Given the description of an element on the screen output the (x, y) to click on. 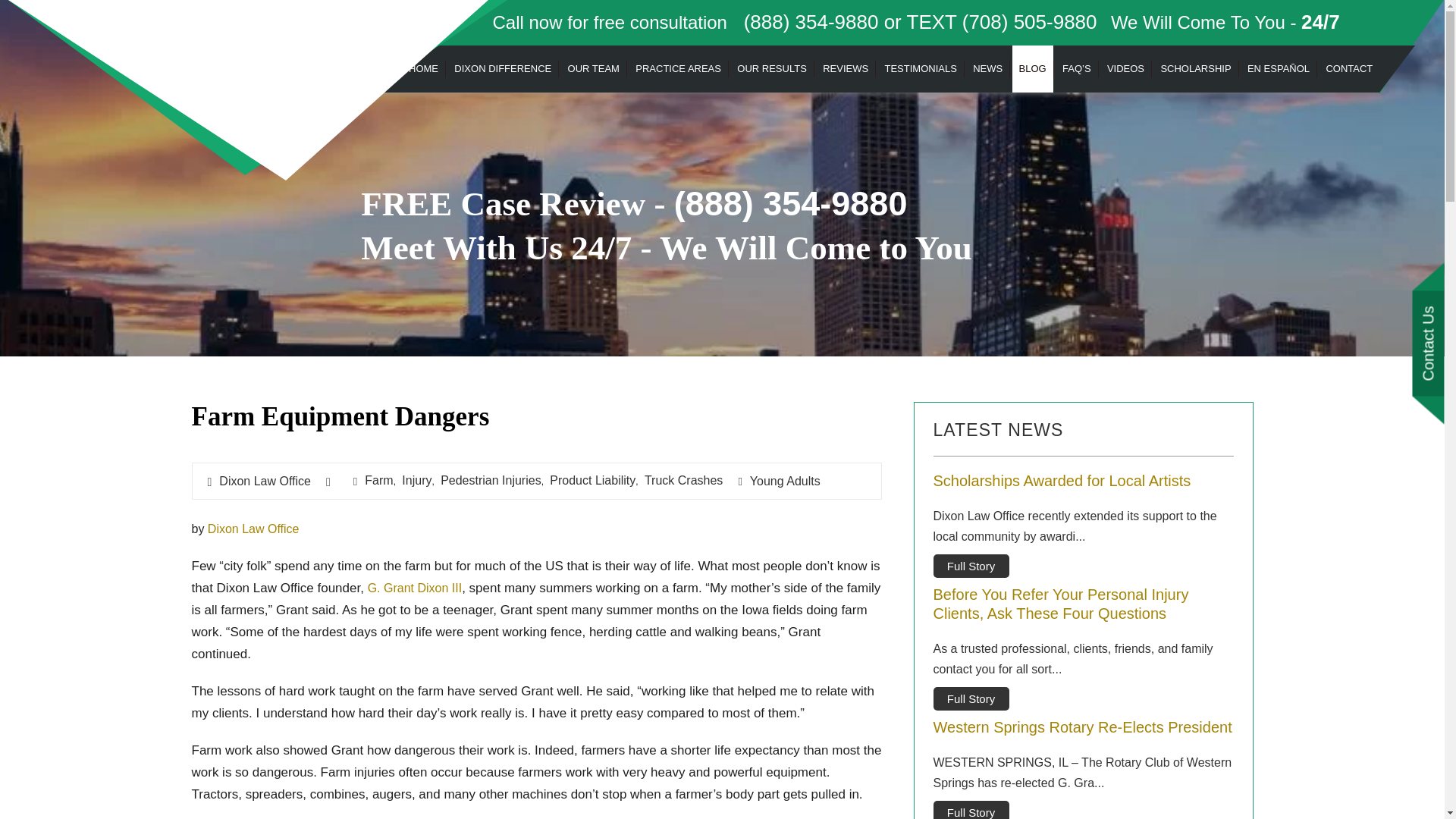
DIXON DIFFERENCE (501, 69)
OUR TEAM (593, 69)
Dixon Law Office founder, Grant Dixon (414, 587)
TESTIMONIALS (919, 69)
HOME (423, 69)
Western Springs Rotary Re-Elects President (1083, 727)
Scholarships Awarded for Local Artists (1083, 480)
OUR RESULTS (771, 69)
dixonlawoffice (250, 57)
